Given the description of an element on the screen output the (x, y) to click on. 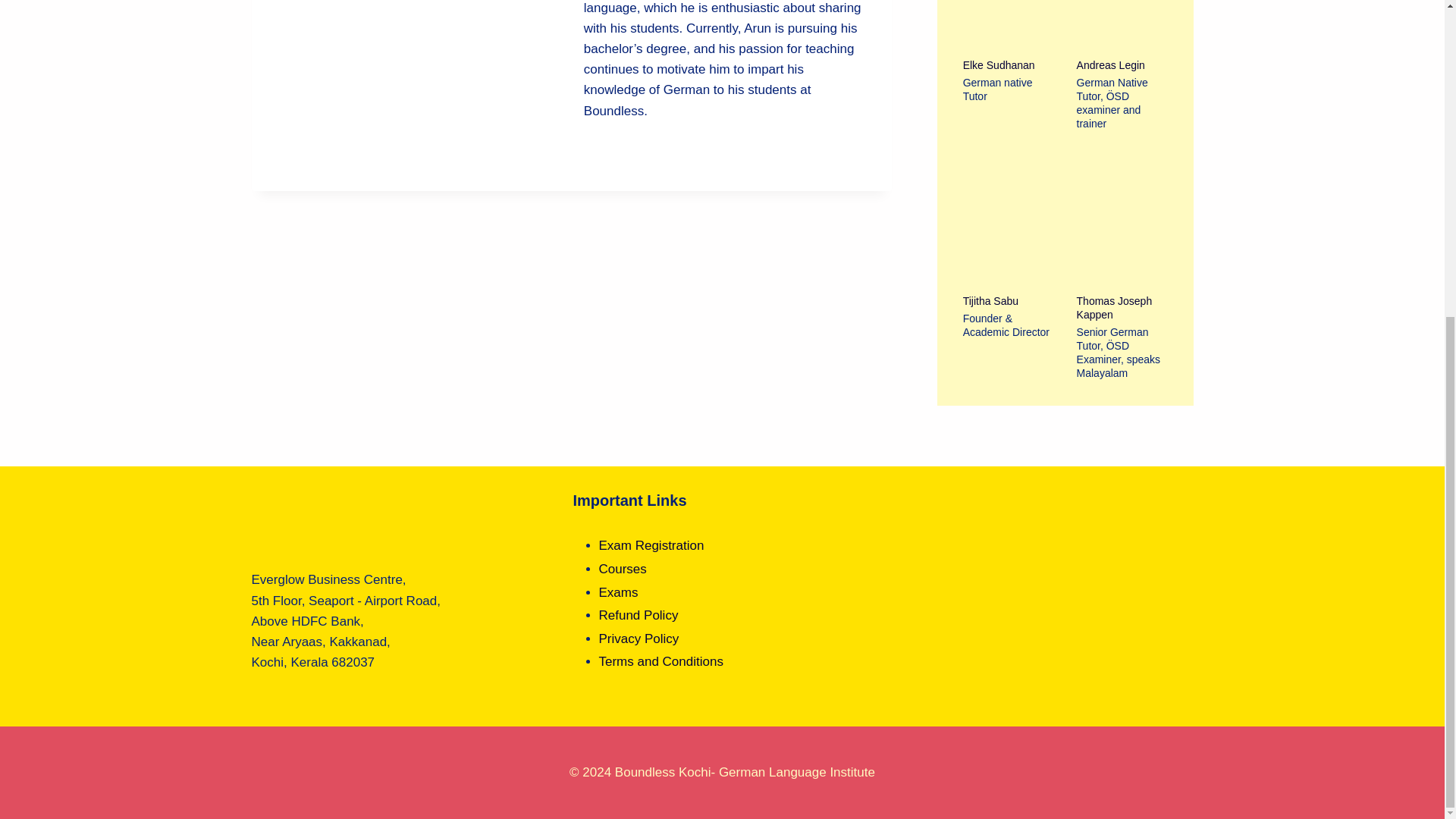
Courses (622, 568)
Elke Sudhanan 4 (1008, 24)
Andreas Legin 5 (1121, 24)
Exams (618, 592)
Refund Policy (638, 615)
Privacy Policy (638, 638)
Andreas Legin (1122, 65)
Elke Sudhanan (1008, 65)
Thomas Joseph Kappen (1122, 307)
Arun VS 1 (417, 74)
